Given the description of an element on the screen output the (x, y) to click on. 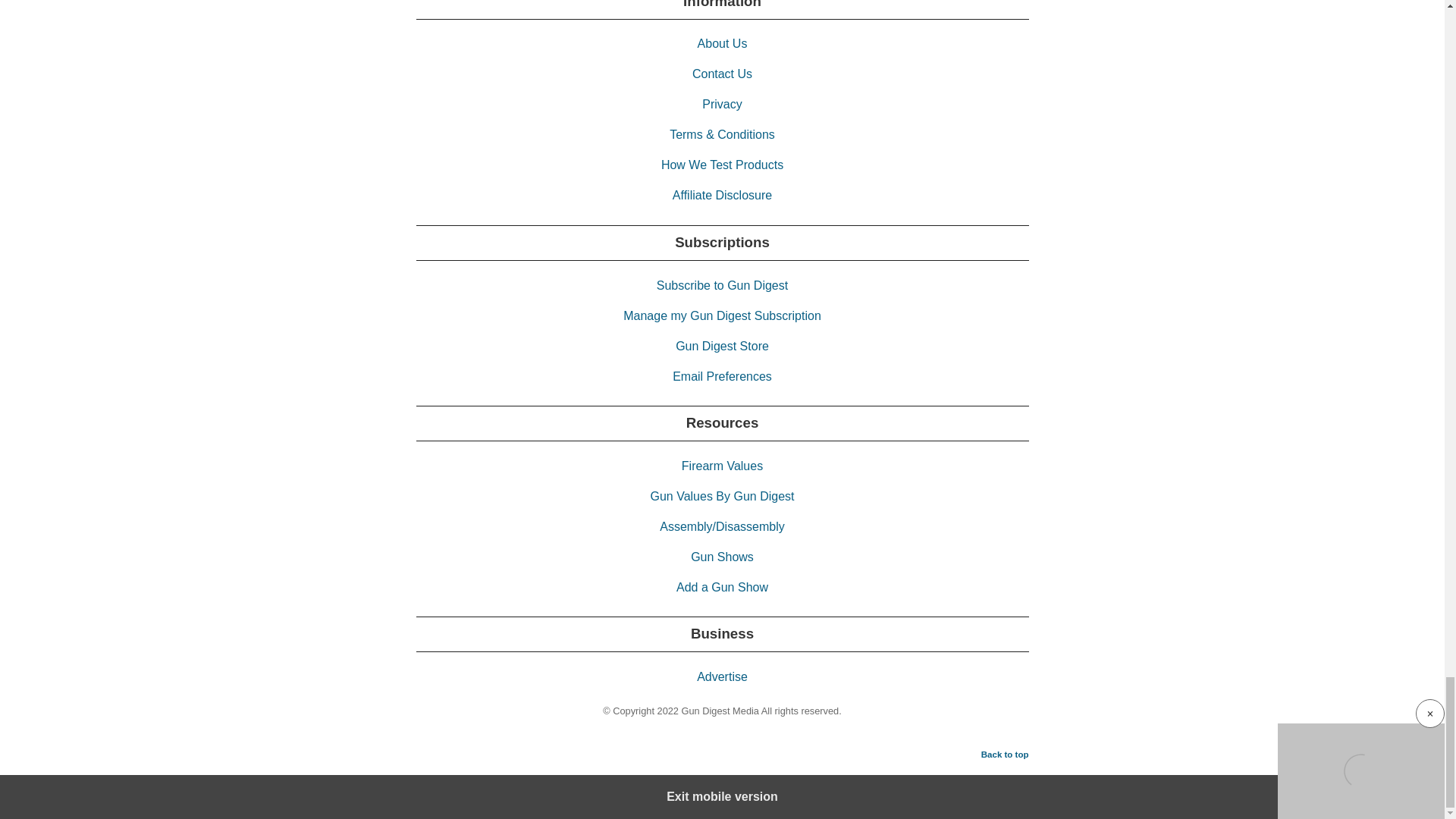
Subscribe to Gun Digest (721, 285)
on (7, 784)
Gun Values By Gun Digest (721, 495)
Contact Us (722, 73)
Manage my Gun Digest Subscription (722, 315)
Firearm Values (721, 465)
Gun Shows (722, 556)
How We Test Products (722, 164)
Gun Digest Store (721, 345)
Add a Gun Show (722, 586)
Email Preferences (721, 376)
Back to top (1005, 754)
Privacy (721, 103)
About Us (722, 42)
Affiliate Disclosure (721, 195)
